Given the description of an element on the screen output the (x, y) to click on. 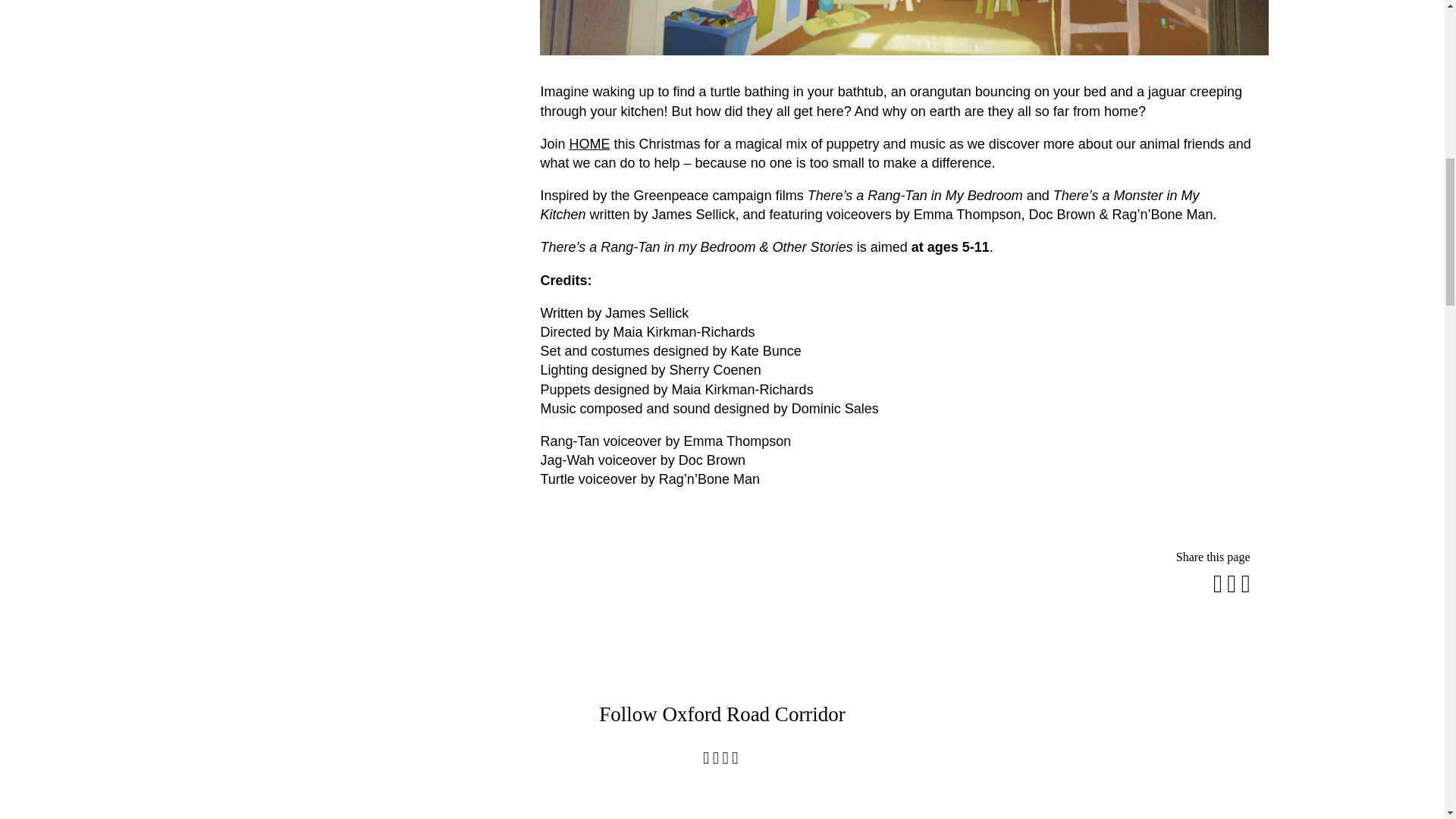
HOME (589, 143)
